Given the description of an element on the screen output the (x, y) to click on. 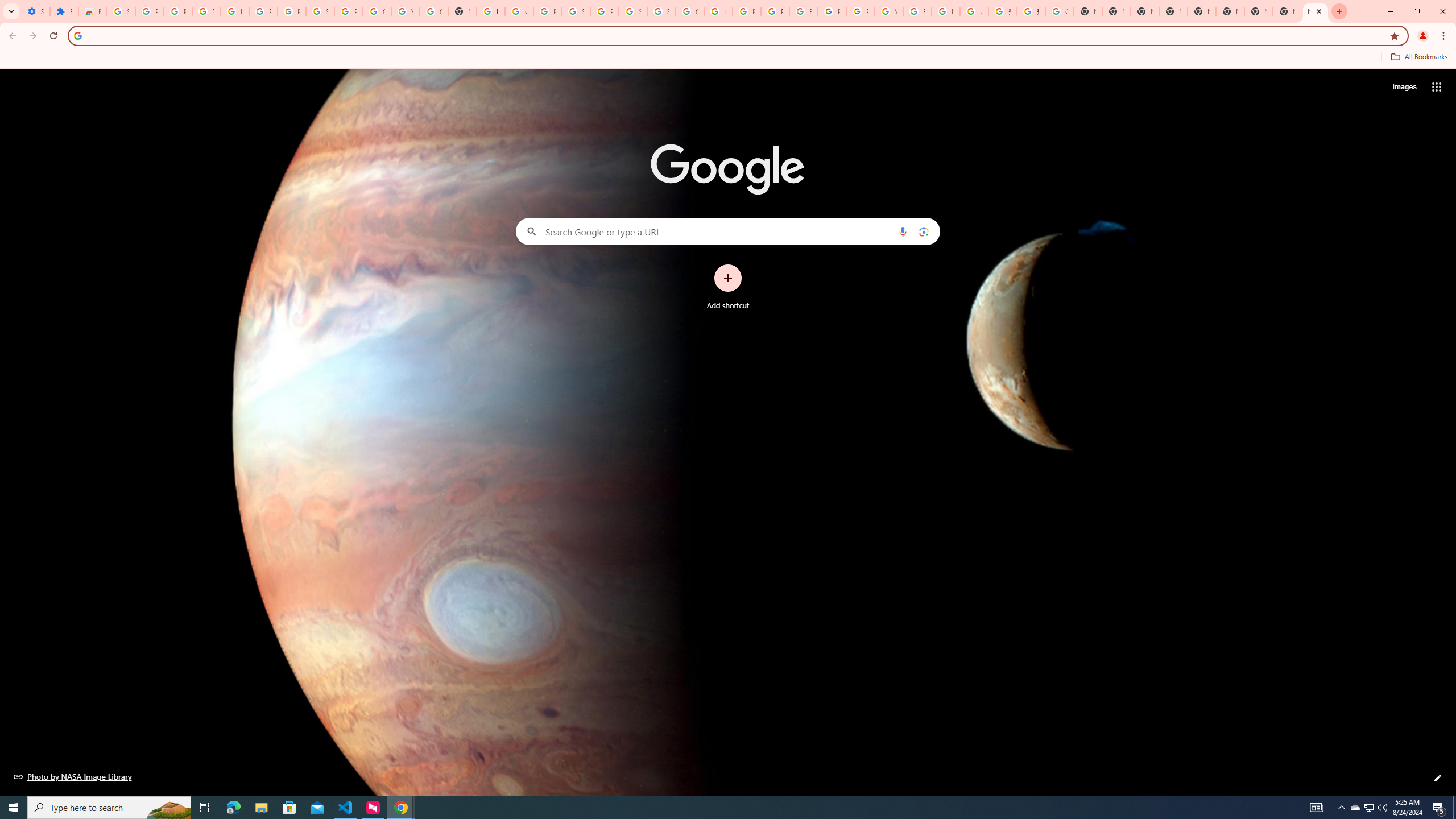
New Tab (1315, 11)
You (1422, 35)
All Bookmarks (1418, 56)
Customize this page (1437, 778)
New Tab (1338, 11)
Search by voice (902, 230)
Bookmark this tab (1393, 35)
Sign in - Google Accounts (661, 11)
System (6, 6)
New Tab (1258, 11)
Google apps (1436, 86)
Chrome (1445, 35)
Forward (32, 35)
